Given the description of an element on the screen output the (x, y) to click on. 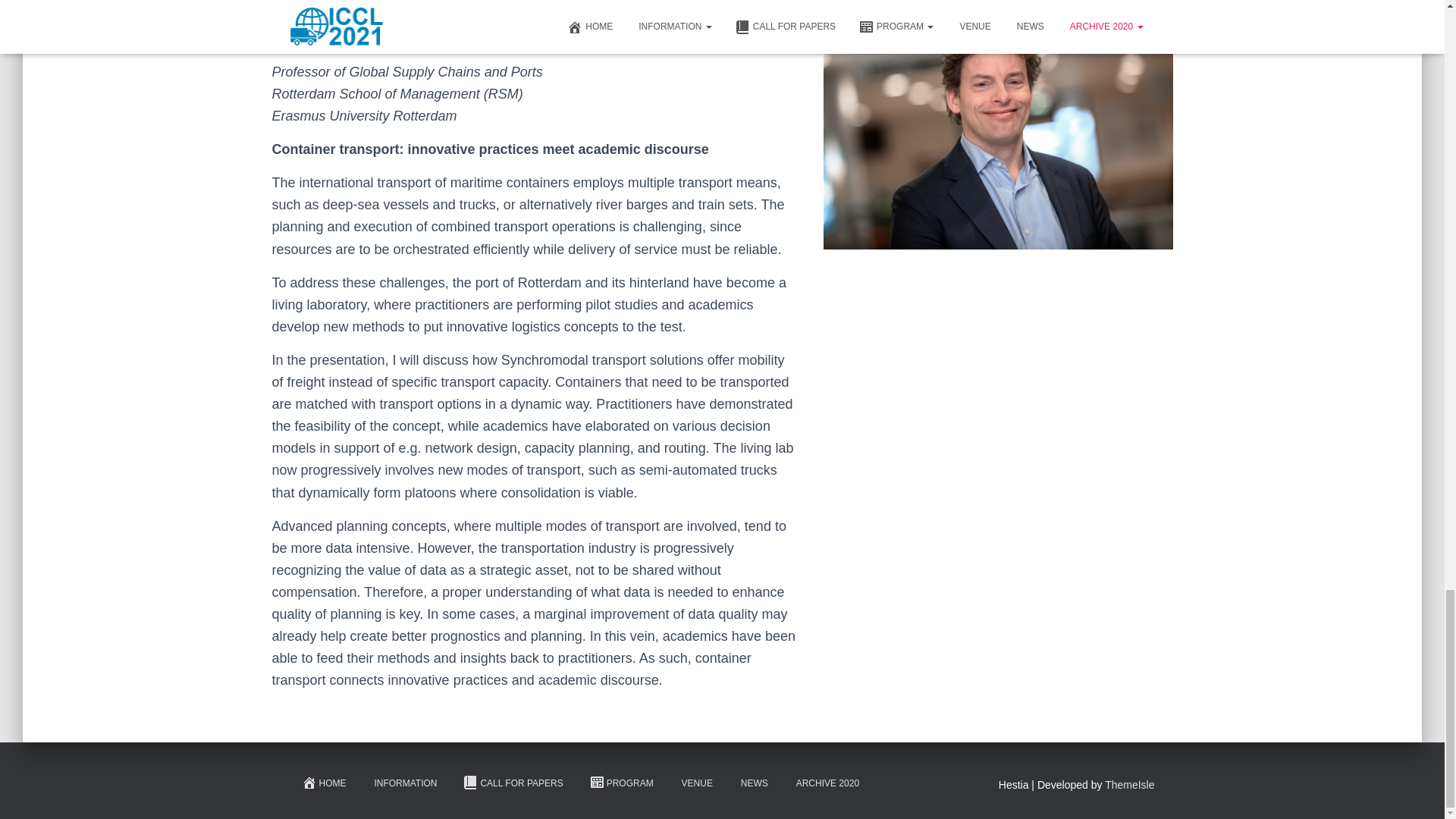
ARCHIVE 2020 (826, 783)
HOME (322, 783)
CALL FOR PAPERS (512, 783)
INFORMATION (403, 783)
PROGRAM (621, 783)
ThemeIsle (1129, 784)
NEWS (752, 783)
VENUE (695, 783)
